Given the description of an element on the screen output the (x, y) to click on. 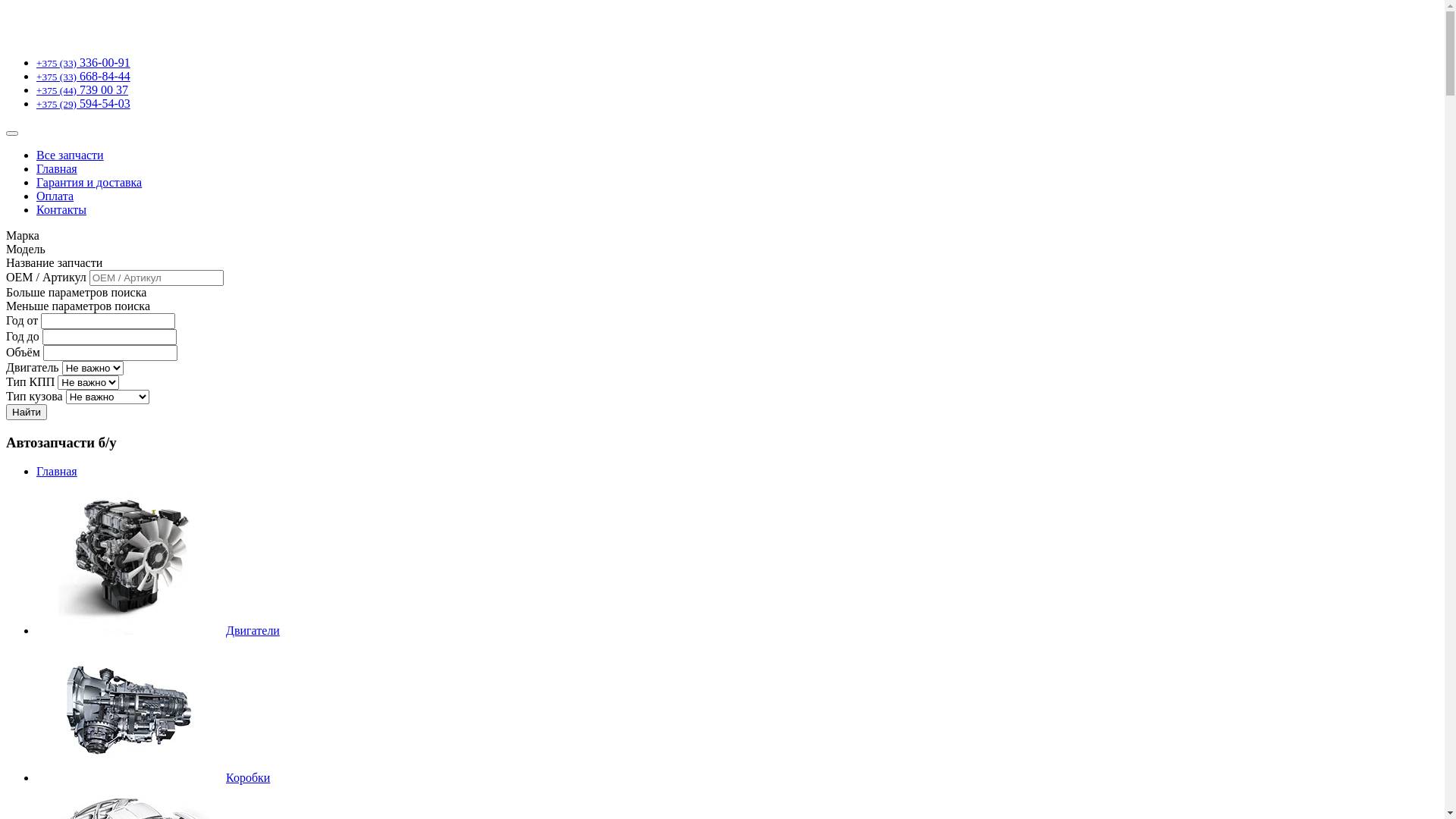
+375 (29) 594-54-03 Element type: text (83, 103)
+375 (33) 336-00-91 Element type: text (83, 62)
+375 (44) 739 00 37 Element type: text (82, 89)
+375 (33) 668-84-44 Element type: text (83, 75)
